Given the description of an element on the screen output the (x, y) to click on. 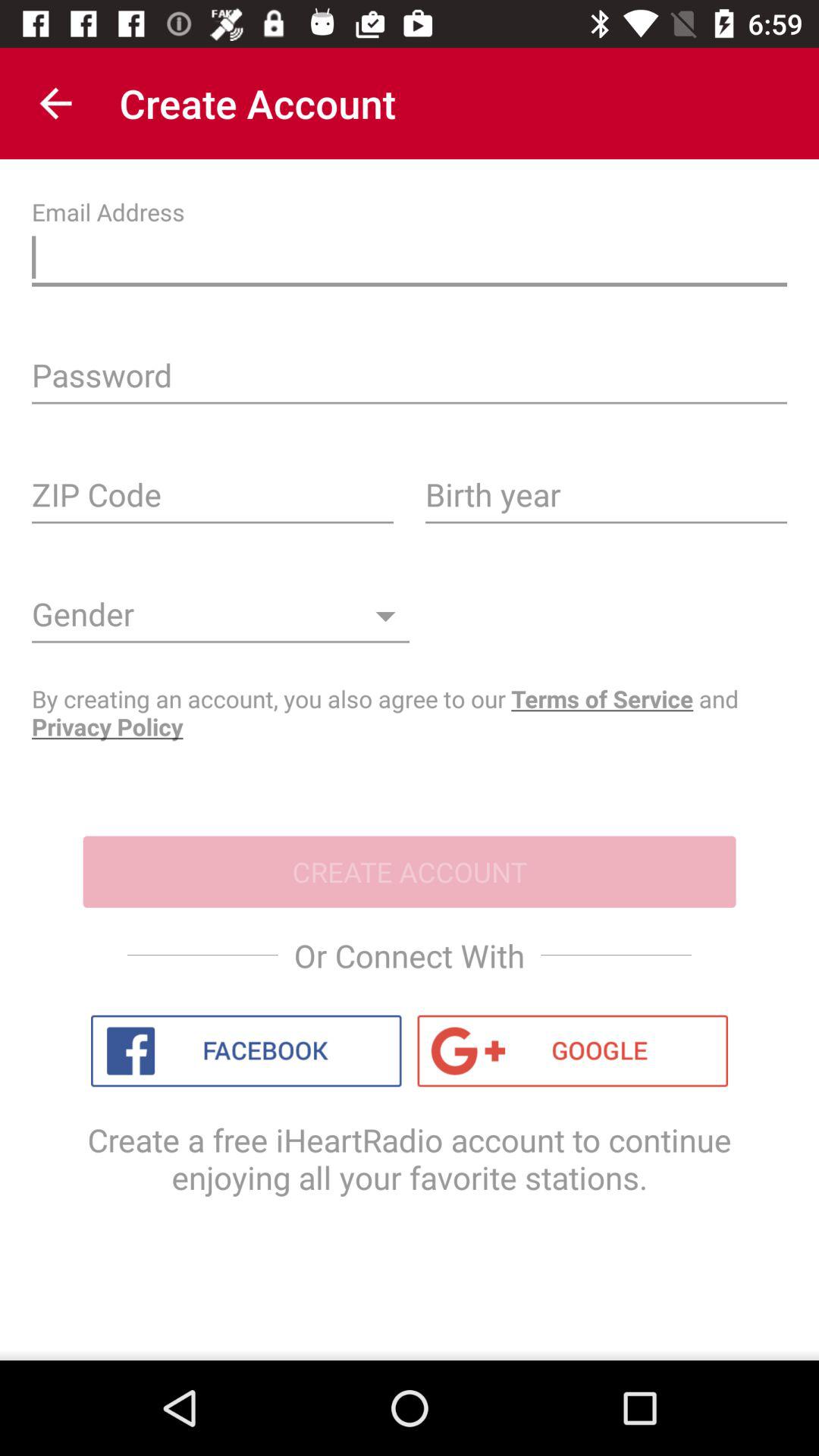
open the icon below the or connect with icon (572, 1050)
